Given the description of an element on the screen output the (x, y) to click on. 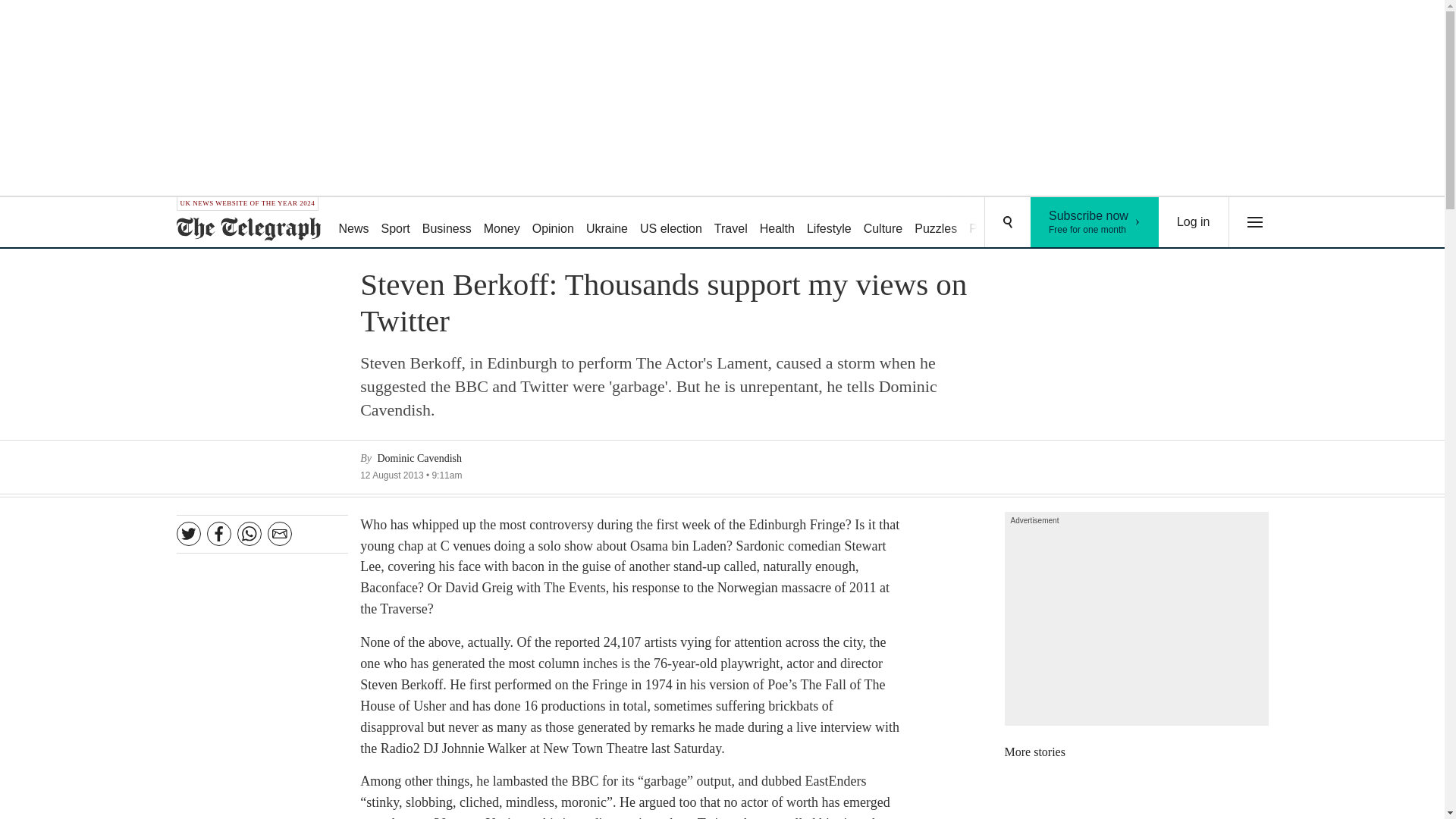
Lifestyle (828, 223)
US election (1094, 222)
Culture (670, 223)
Opinion (882, 223)
Money (552, 223)
Puzzles (501, 223)
Business (935, 223)
Health (446, 223)
Log in (777, 223)
